Given the description of an element on the screen output the (x, y) to click on. 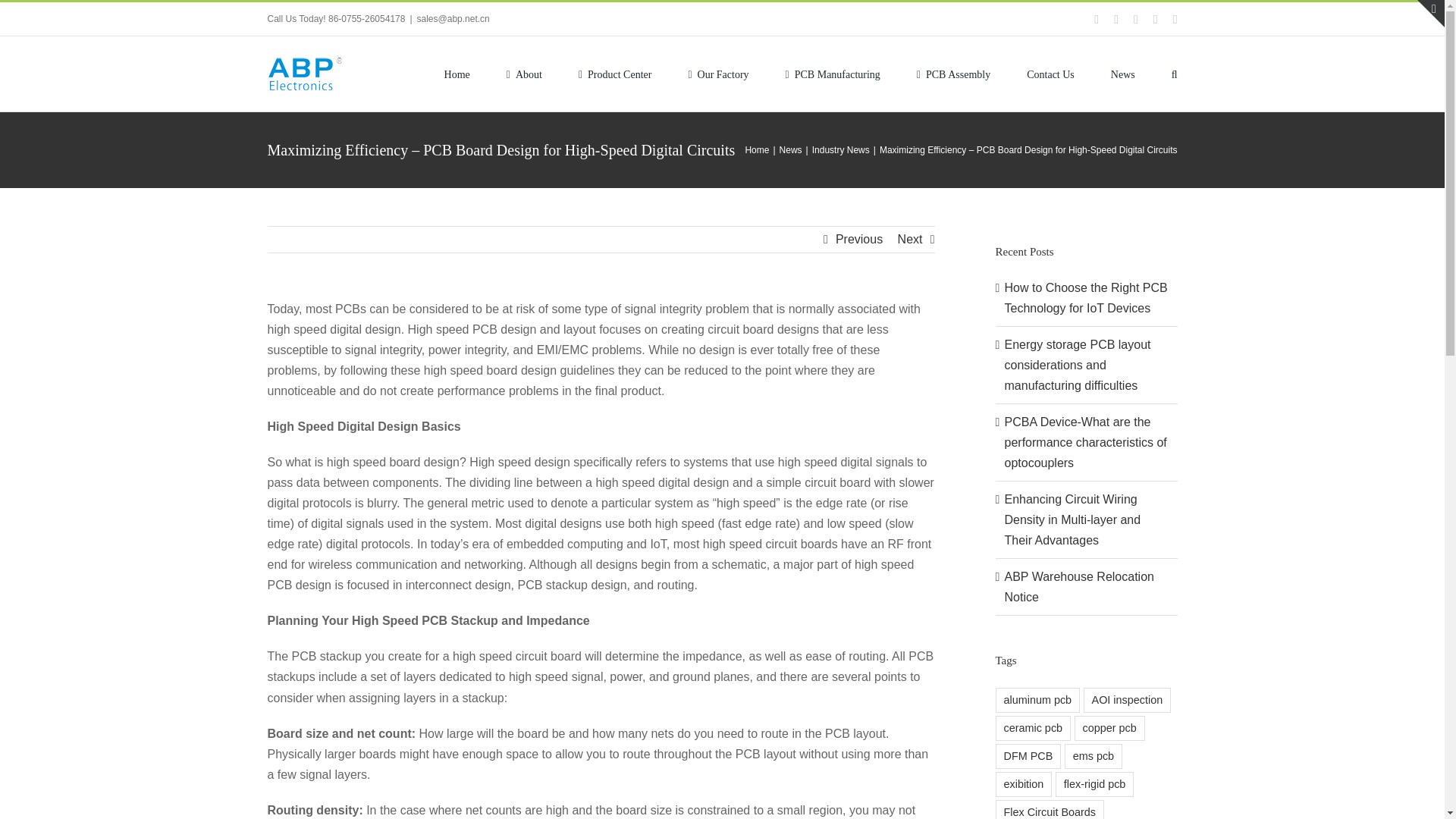
PCB Manufacturing (833, 73)
Product Center (615, 73)
PCB Assembly (953, 73)
